Given the description of an element on the screen output the (x, y) to click on. 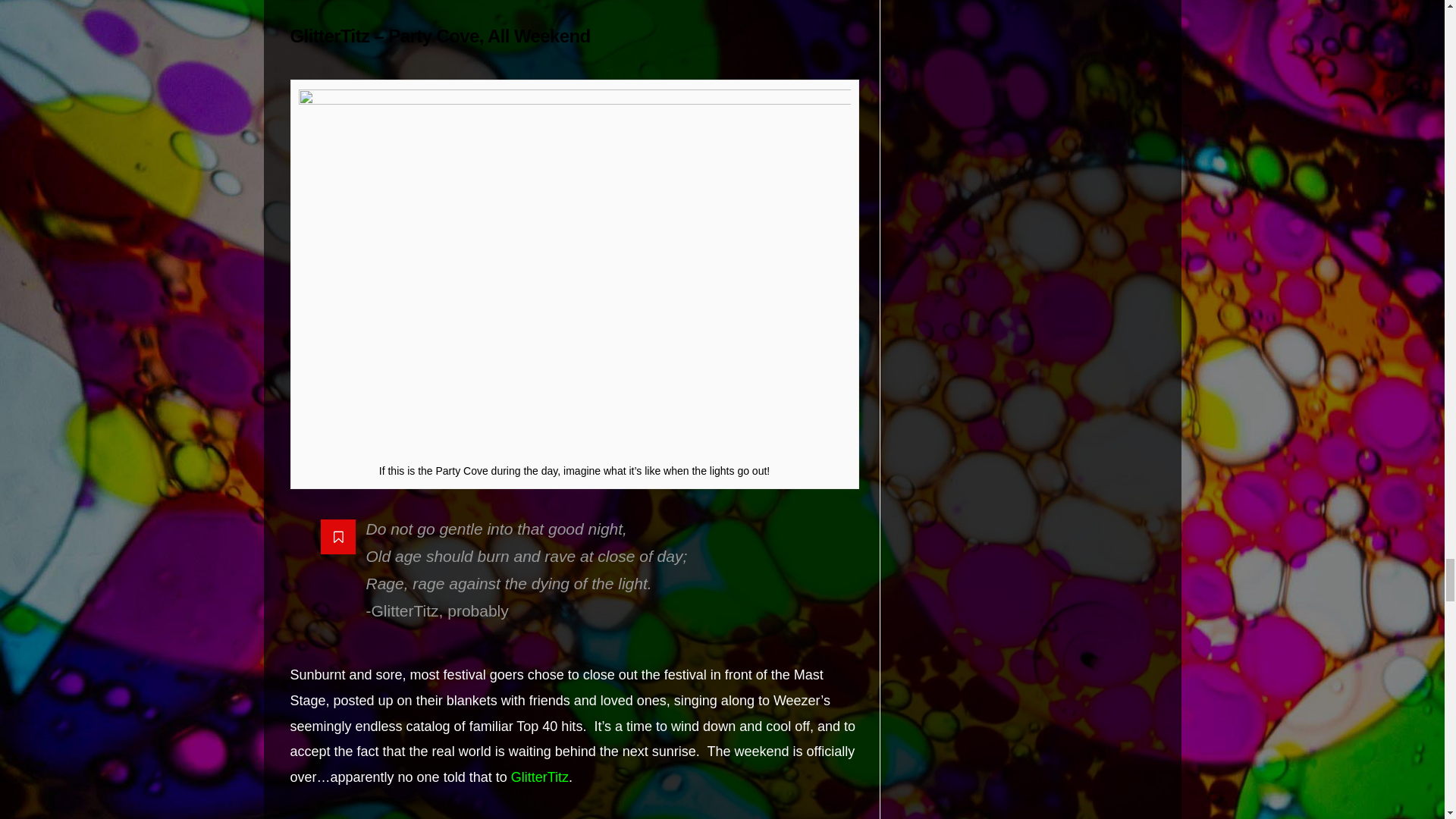
GlitterTitz (540, 776)
